Given the description of an element on the screen output the (x, y) to click on. 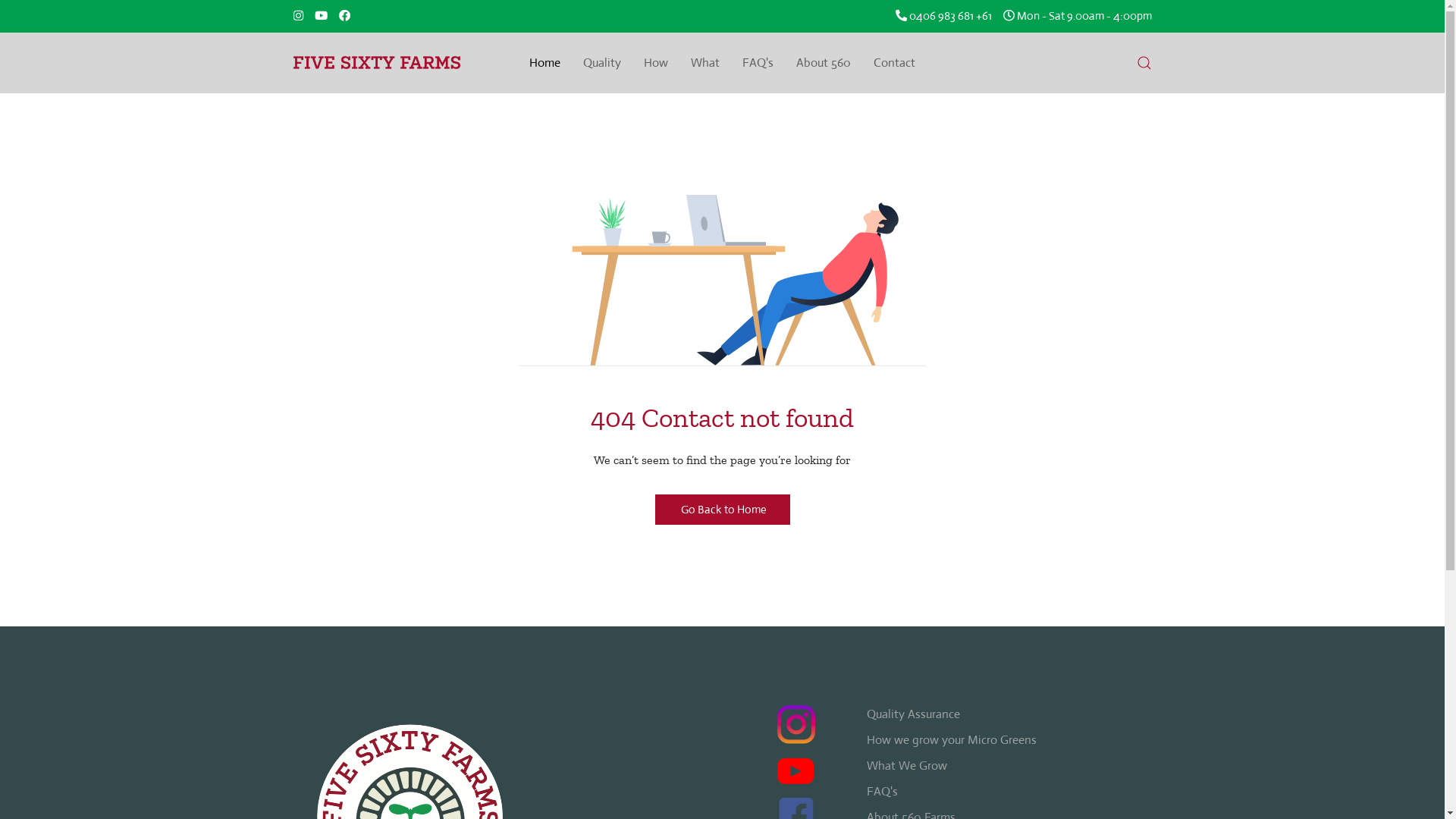
What Element type: text (704, 62)
FAQ's Element type: text (757, 62)
Quality Element type: text (602, 62)
Contact Element type: text (894, 62)
Home Element type: text (544, 62)
What We Grow Element type: text (906, 765)
About 560 Element type: text (823, 62)
Quality Assurance Element type: text (912, 713)
Five Sixty Farms Element type: hover (375, 62)
How we grow your Micro Greens Element type: text (950, 739)
Search Icon Element type: hover (1143, 62)
Go Back to Home Element type: text (722, 509)
How Element type: text (655, 62)
FAQ's Element type: text (881, 791)
